Given the description of an element on the screen output the (x, y) to click on. 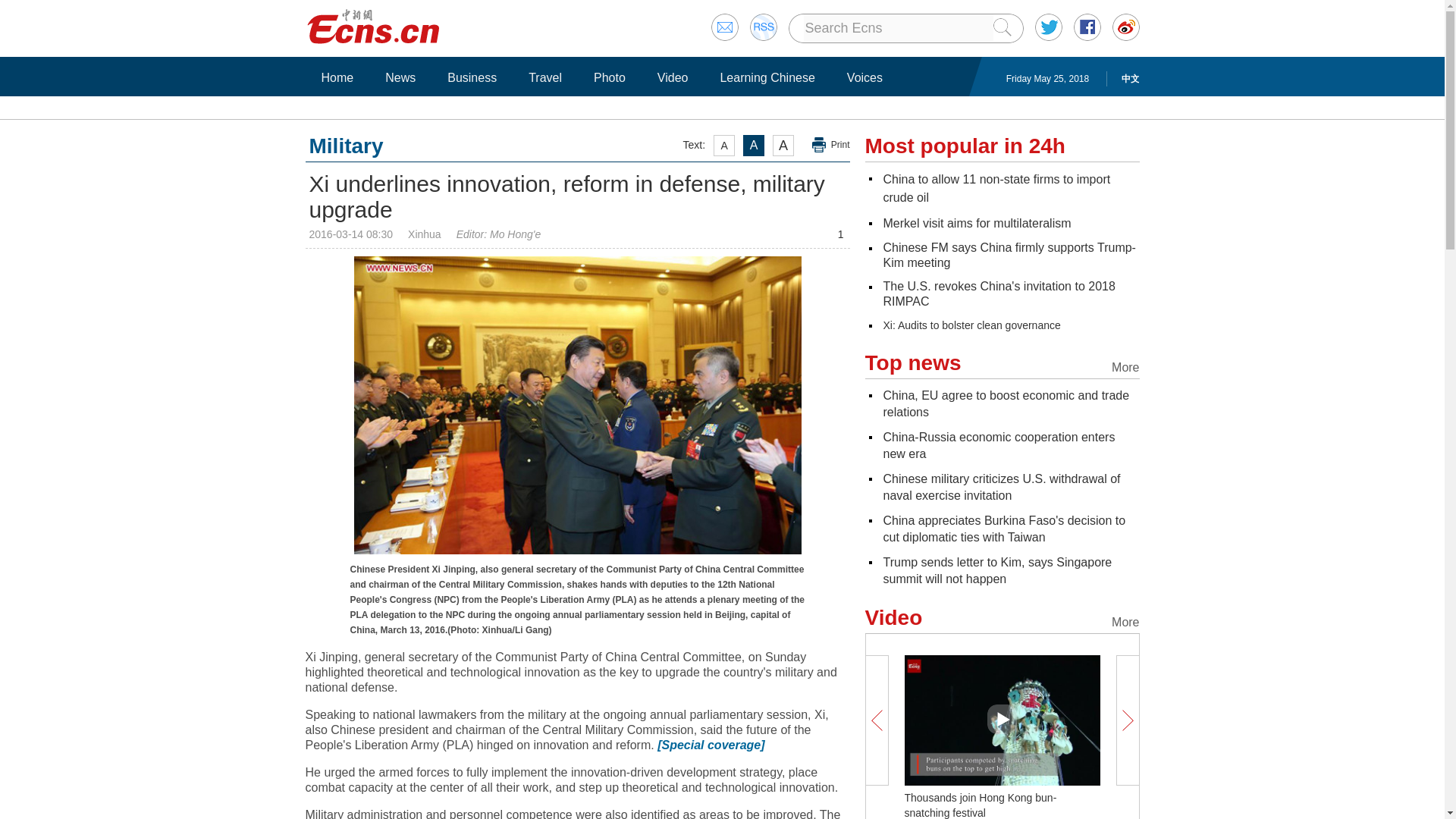
News (400, 77)
Video (673, 77)
Voices (864, 77)
Print (831, 144)
Search Ecns (897, 27)
Business (472, 77)
Learning Chinese (766, 77)
Merkel visit aims for multilateralism (976, 223)
Chinese FM says China firmly supports Trump-Kim meeting (1008, 254)
Home (337, 77)
